Given the description of an element on the screen output the (x, y) to click on. 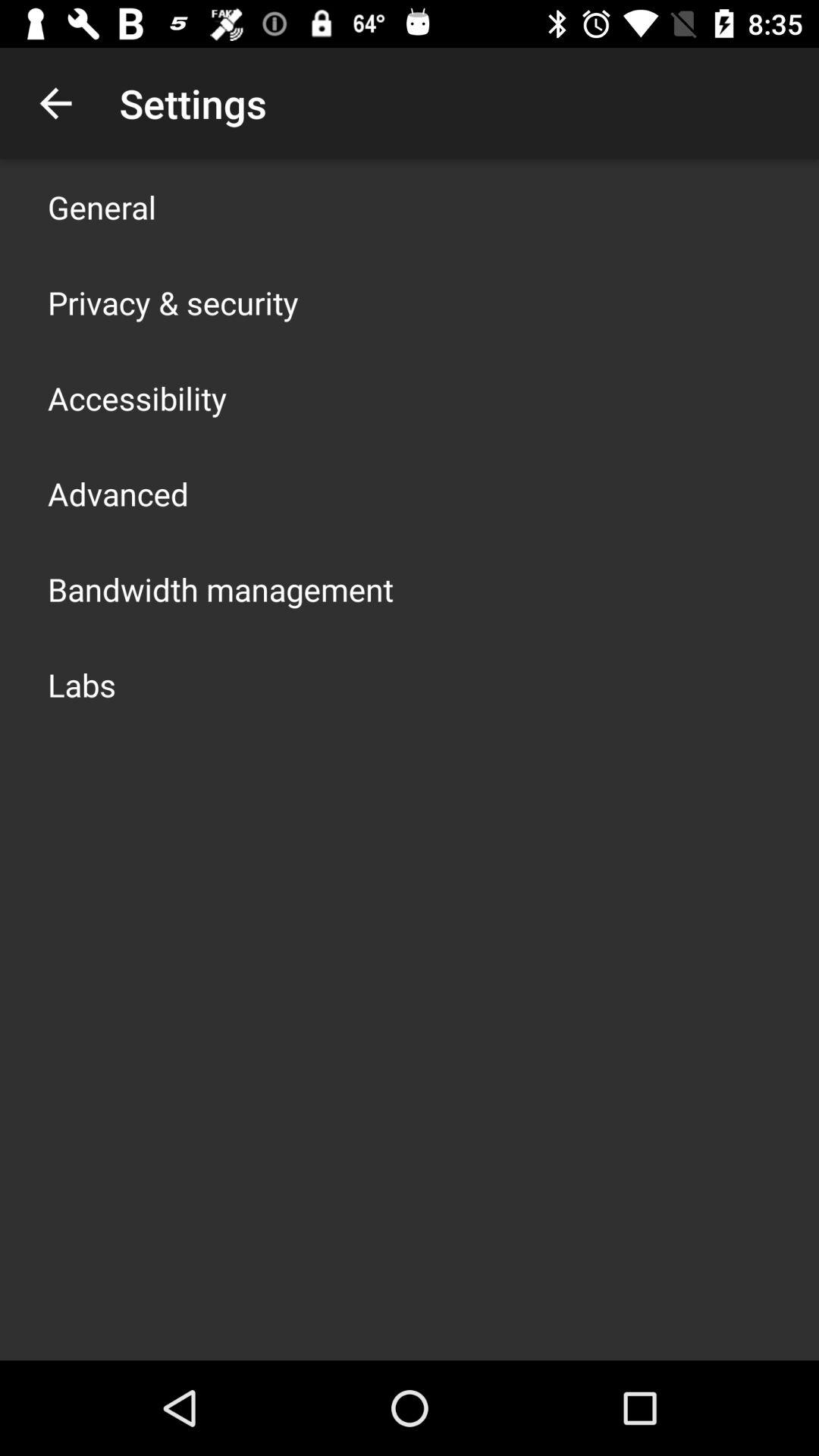
turn off icon to the left of settings icon (55, 103)
